Given the description of an element on the screen output the (x, y) to click on. 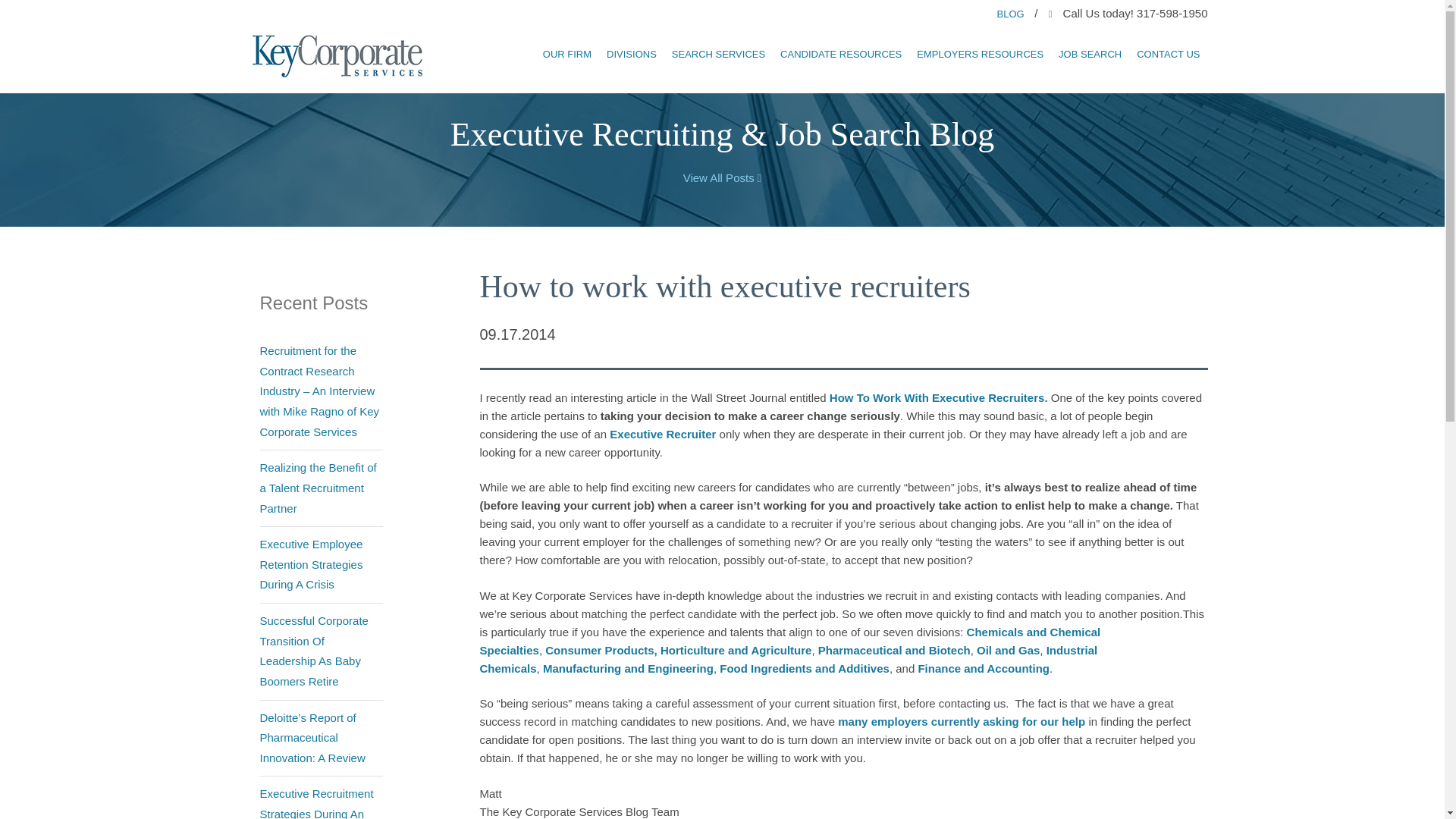
View All Posts (721, 177)
Key Corporate Services (338, 56)
EMPLOYERS RESOURCES (980, 47)
CONTACT US (1168, 47)
JOB SEARCH (1089, 47)
OUR FIRM (567, 47)
Key Corporate Services (663, 433)
SEARCH SERVICES (718, 47)
BLOG (1012, 11)
KEY CORPORATE SERVICES (338, 56)
